Given the description of an element on the screen output the (x, y) to click on. 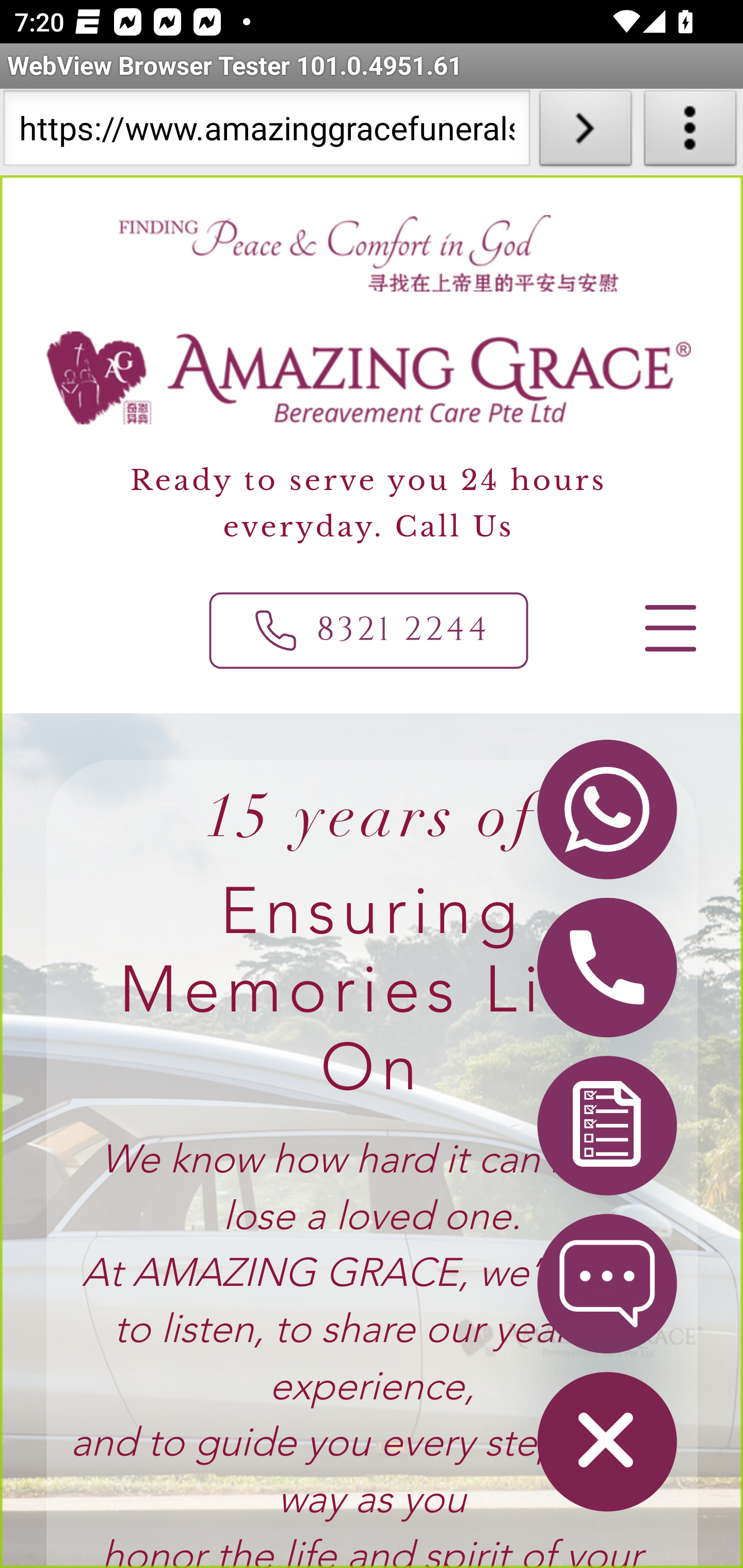
Load URL (585, 132)
About WebView (690, 132)
AG_H5 Finding God_edited.png (366, 253)
AG_H1 Logo Name_edited.png (369, 377)
Open navigation menu (669, 627)
8321 2244 (368, 630)
WhatsApp (606, 807)
Call Us (606, 966)
Enquiry (606, 1123)
Live Chat (606, 1282)
Hide Chaty Channels (606, 1440)
